Given the description of an element on the screen output the (x, y) to click on. 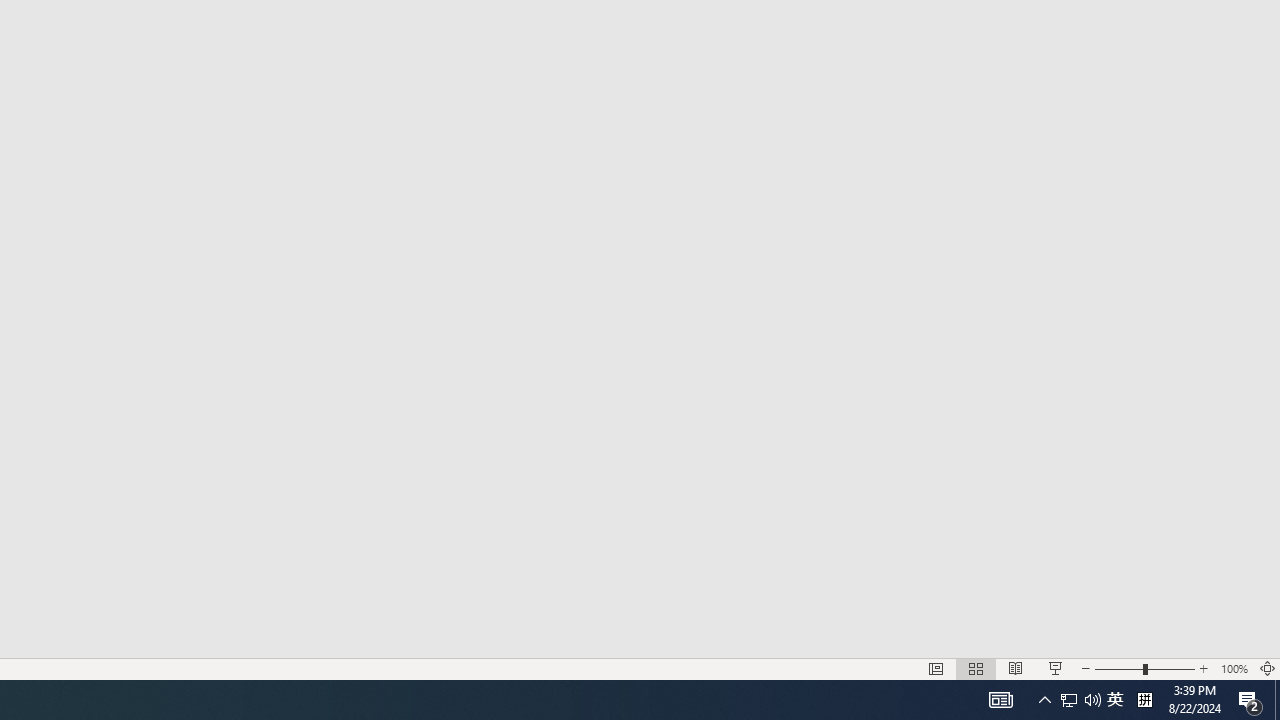
Tray Input Indicator - Chinese (Simplified, China) (1144, 699)
Action Center, 2 new notifications (1250, 699)
Notification Chevron (1044, 699)
Normal (1069, 699)
Q2790: 100% (936, 668)
Zoom (1092, 699)
Slide Sorter (1144, 668)
Zoom In (975, 668)
AutomationID: 4105 (1204, 668)
Show desktop (1000, 699)
Zoom to Fit  (1277, 699)
